Given the description of an element on the screen output the (x, y) to click on. 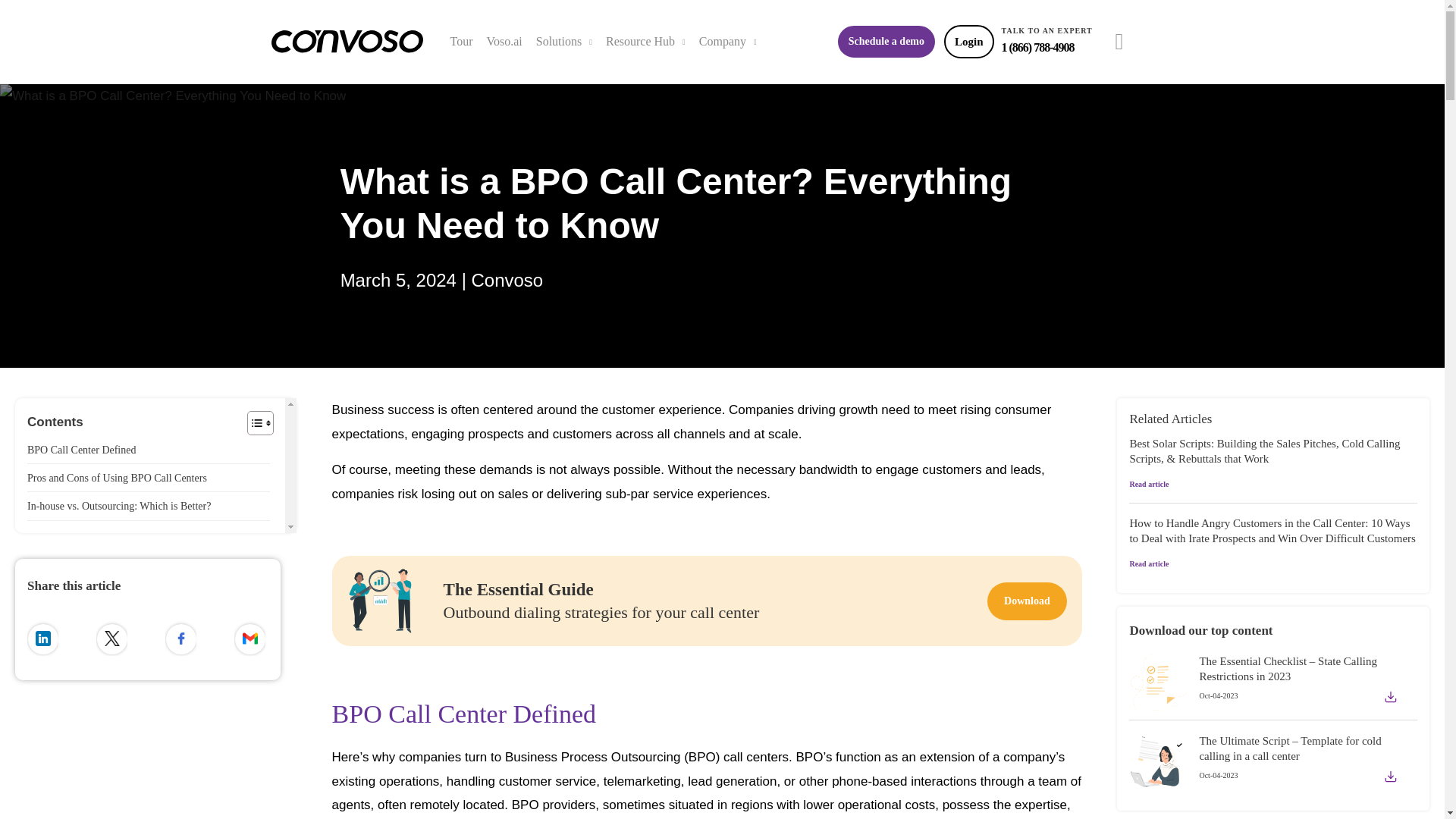
BPO Call Center Defined (81, 449)
Solutions (563, 41)
In-house vs. Outsourcing: Which is Better? (119, 505)
Pros and Cons of Using BPO Call Centers (116, 477)
